Given the description of an element on the screen output the (x, y) to click on. 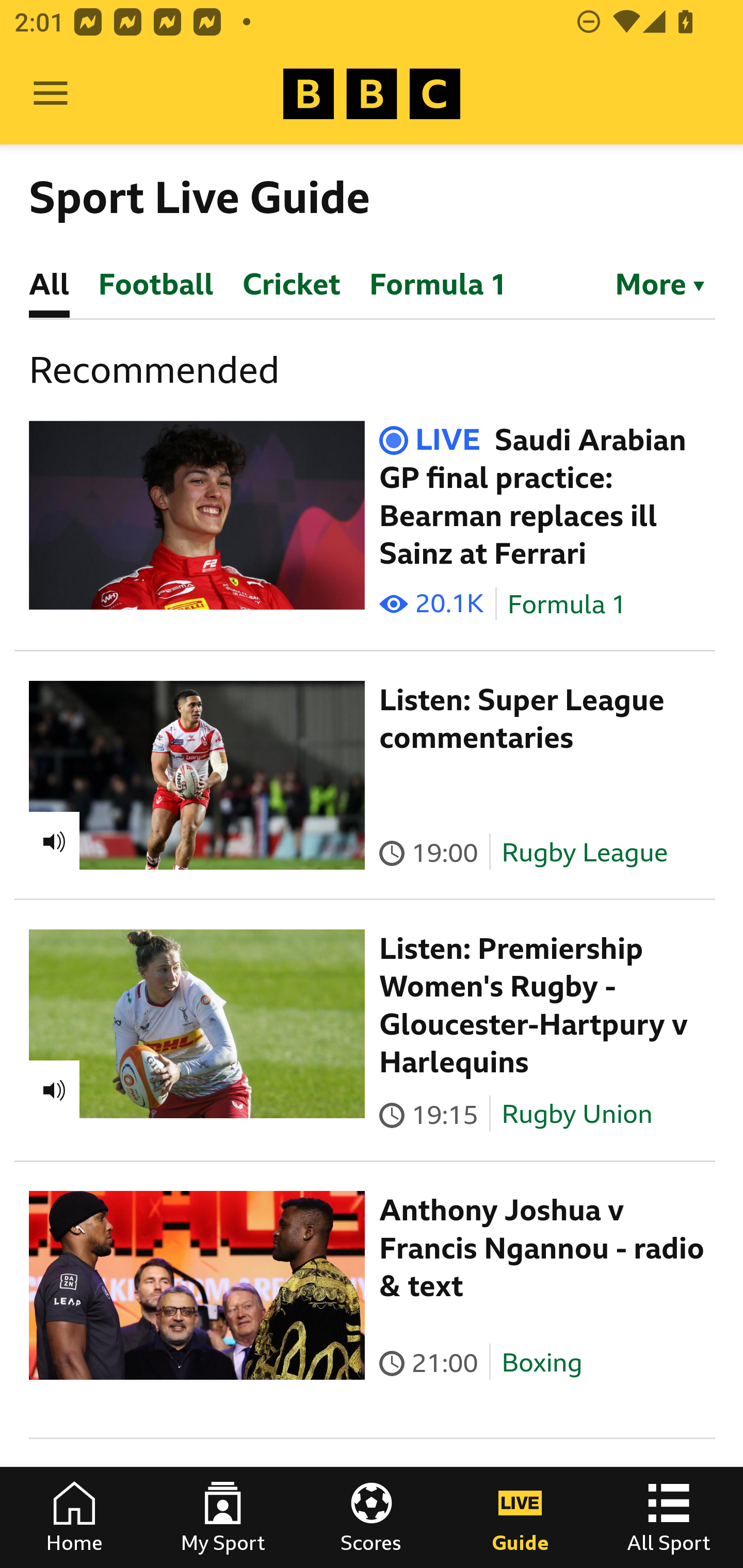
Open Menu (50, 93)
Formula 1 (566, 604)
Listen: Super League commentaries (522, 718)
Rugby League (584, 851)
Rugby Union (576, 1113)
Anthony Joshua v Francis Ngannou - radio & text (541, 1248)
Boxing (541, 1362)
Home (74, 1517)
My Sport (222, 1517)
Scores (371, 1517)
All Sport (668, 1517)
